Given the description of an element on the screen output the (x, y) to click on. 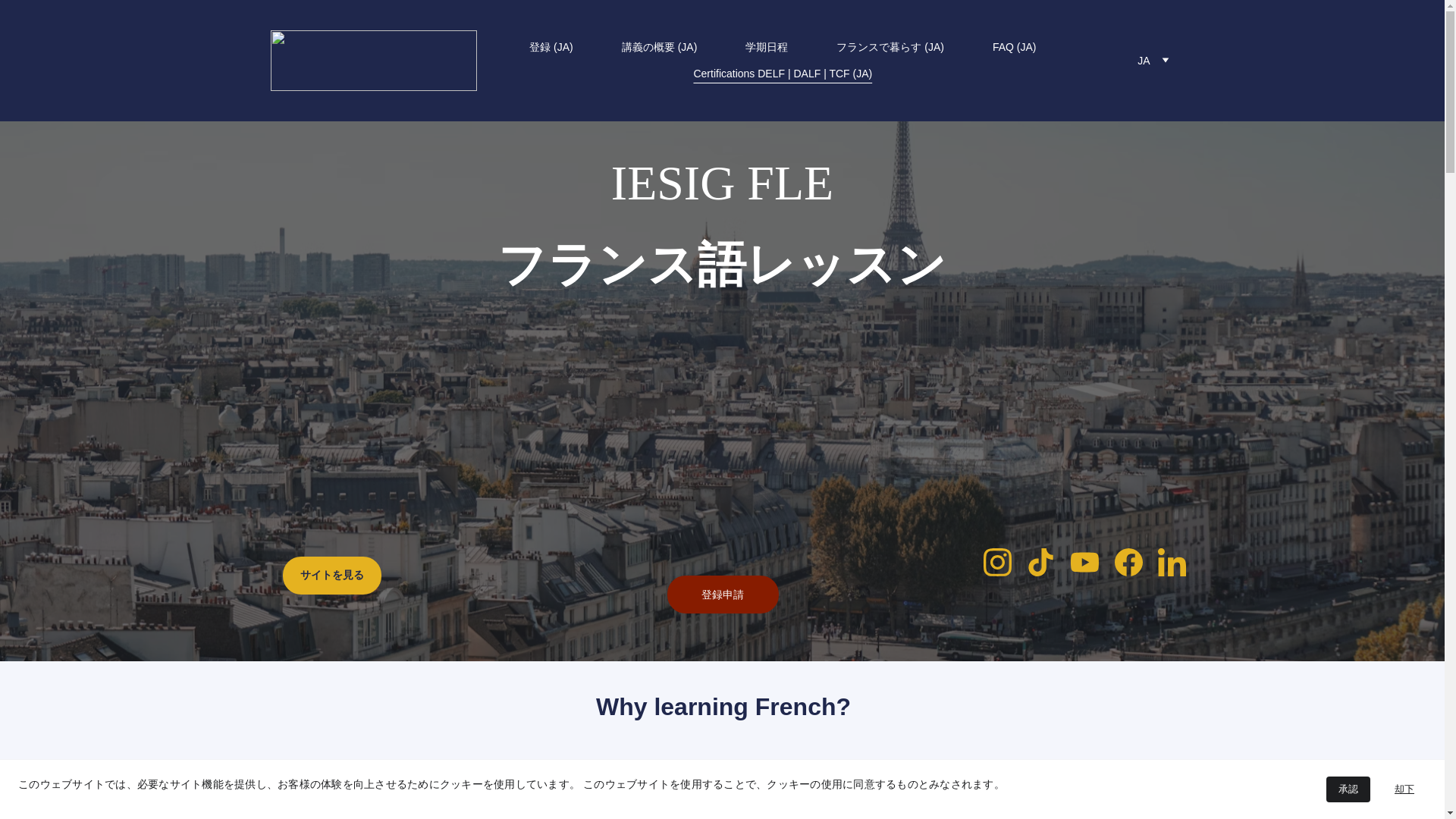
Go to Facebook page (1136, 561)
Go to Instagram page (1005, 561)
Go to Linkedin-in page (1171, 561)
Go to Youtube page (1091, 561)
Go to Tiktok page (1048, 561)
